Given the description of an element on the screen output the (x, y) to click on. 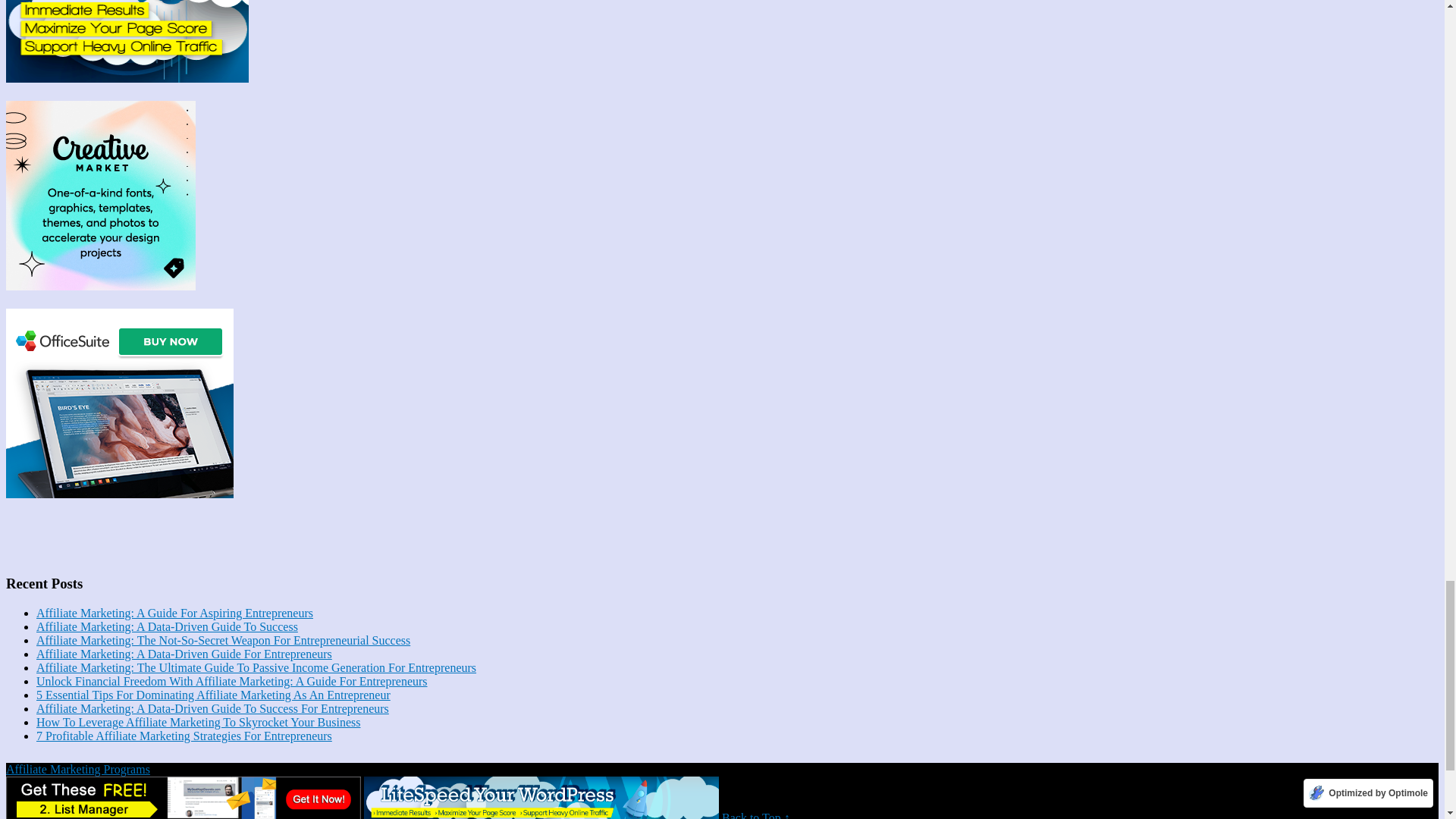
Affiliate Marketing: A Data-Driven Guide For Entrepreneurs (183, 653)
Affiliate Marketing: A Guide For Aspiring Entrepreneurs (174, 612)
Affiliate Marketing: A Data-Driven Guide To Success (167, 626)
